Given the description of an element on the screen output the (x, y) to click on. 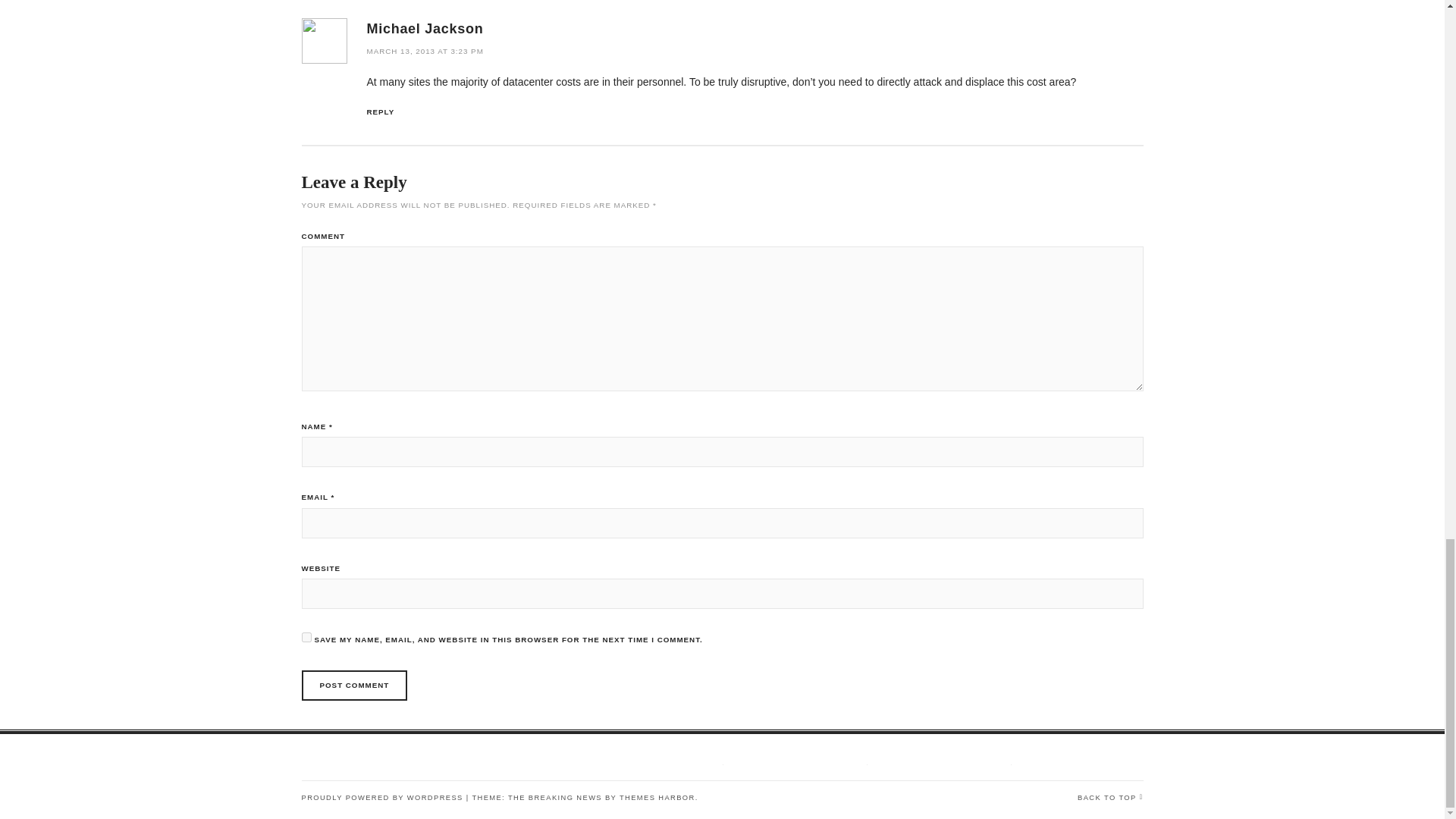
Post Comment (354, 685)
yes (306, 637)
